Given the description of an element on the screen output the (x, y) to click on. 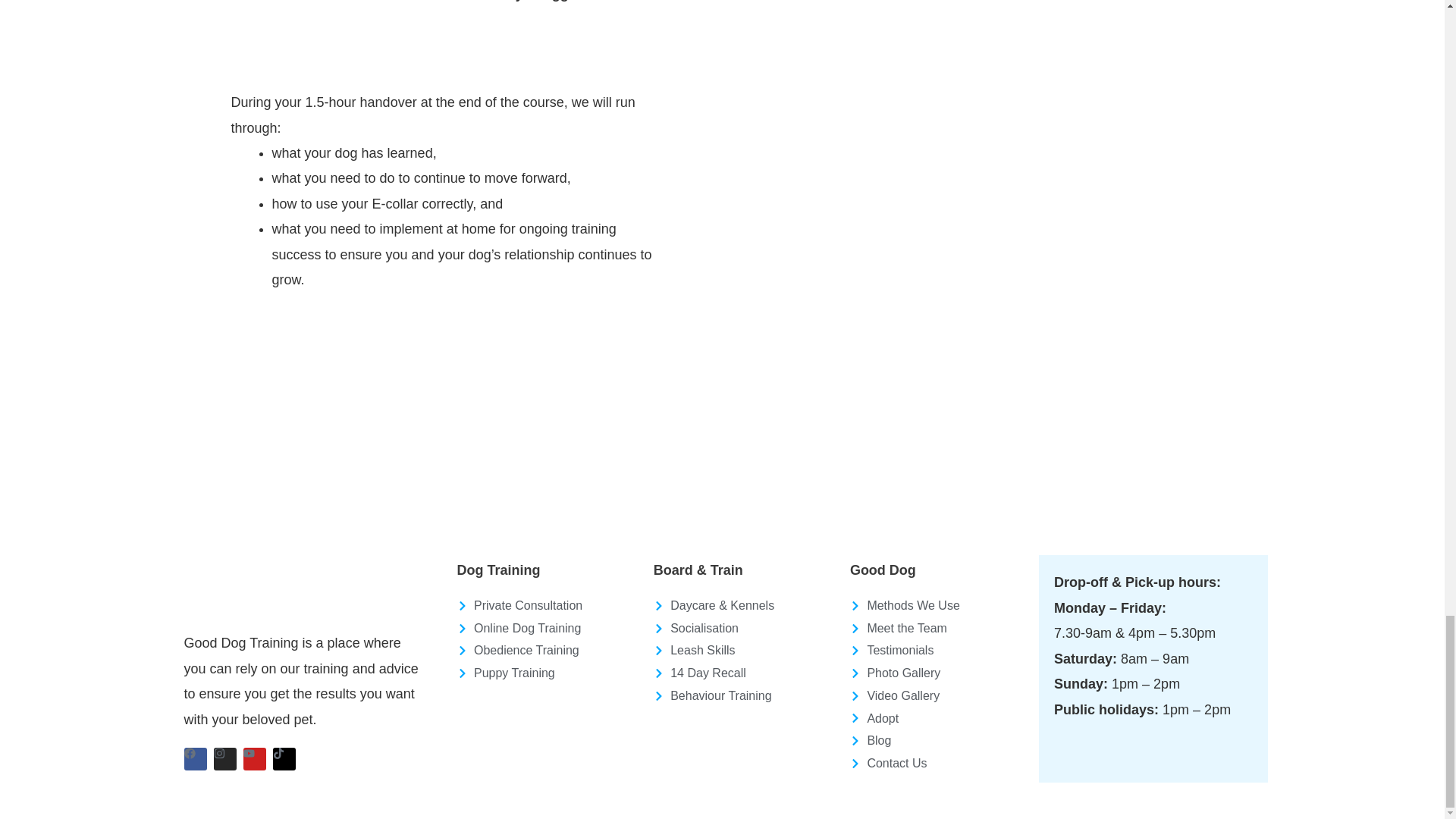
Leash Skills (743, 650)
Socialisation (743, 628)
Facebook (194, 758)
Behaviour Training (743, 695)
Instagram (224, 758)
Meet the Team (940, 628)
Video Gallery (940, 695)
Private Consultation (547, 605)
Tiktok (284, 758)
Puppy Training (547, 672)
